Given the description of an element on the screen output the (x, y) to click on. 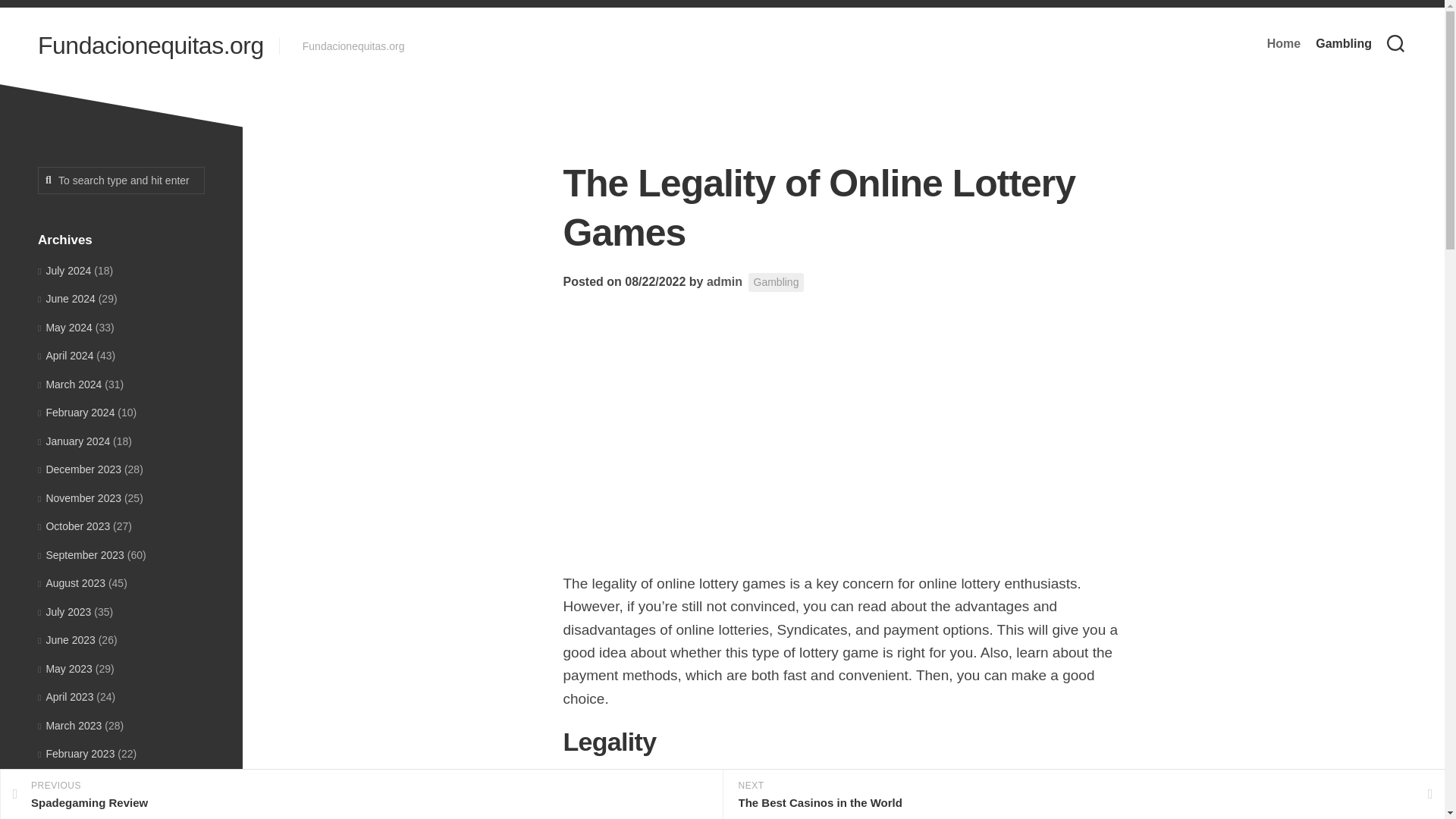
June 2023 (66, 639)
February 2024 (76, 412)
October 2023 (73, 526)
February 2023 (76, 753)
April 2023 (65, 696)
March 2024 (69, 383)
To search type and hit enter (121, 180)
January 2023 (73, 782)
Gambling (1343, 43)
Home (1283, 43)
April 2024 (65, 355)
July 2024 (63, 269)
December 2023 (78, 469)
May 2023 (65, 668)
December 2022 (78, 810)
